Given the description of an element on the screen output the (x, y) to click on. 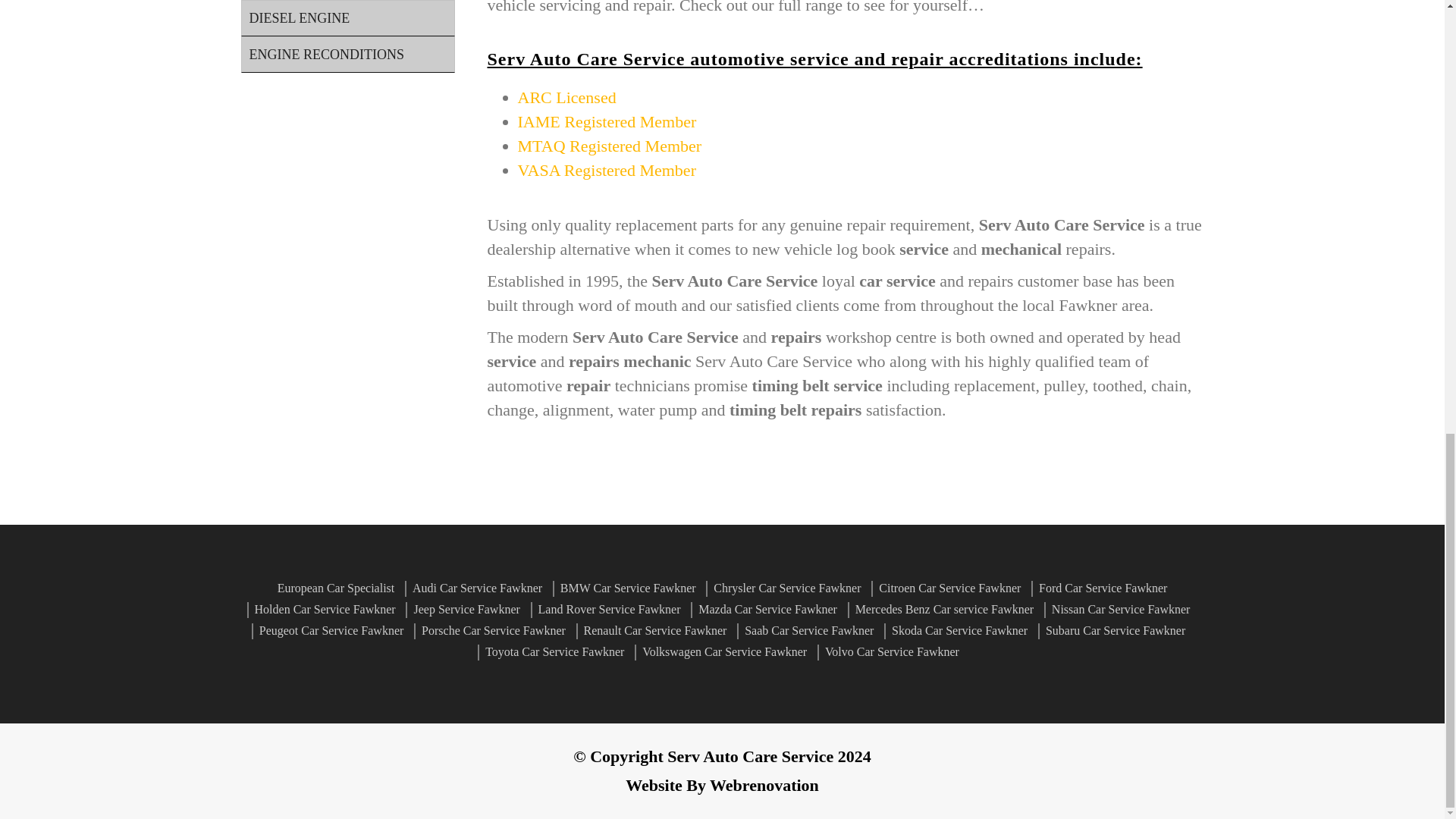
ARC Licensed (565, 97)
MTAQ Registered Member (608, 145)
IAME Registered Member (605, 121)
VASA Registered Member (605, 169)
